Given the description of an element on the screen output the (x, y) to click on. 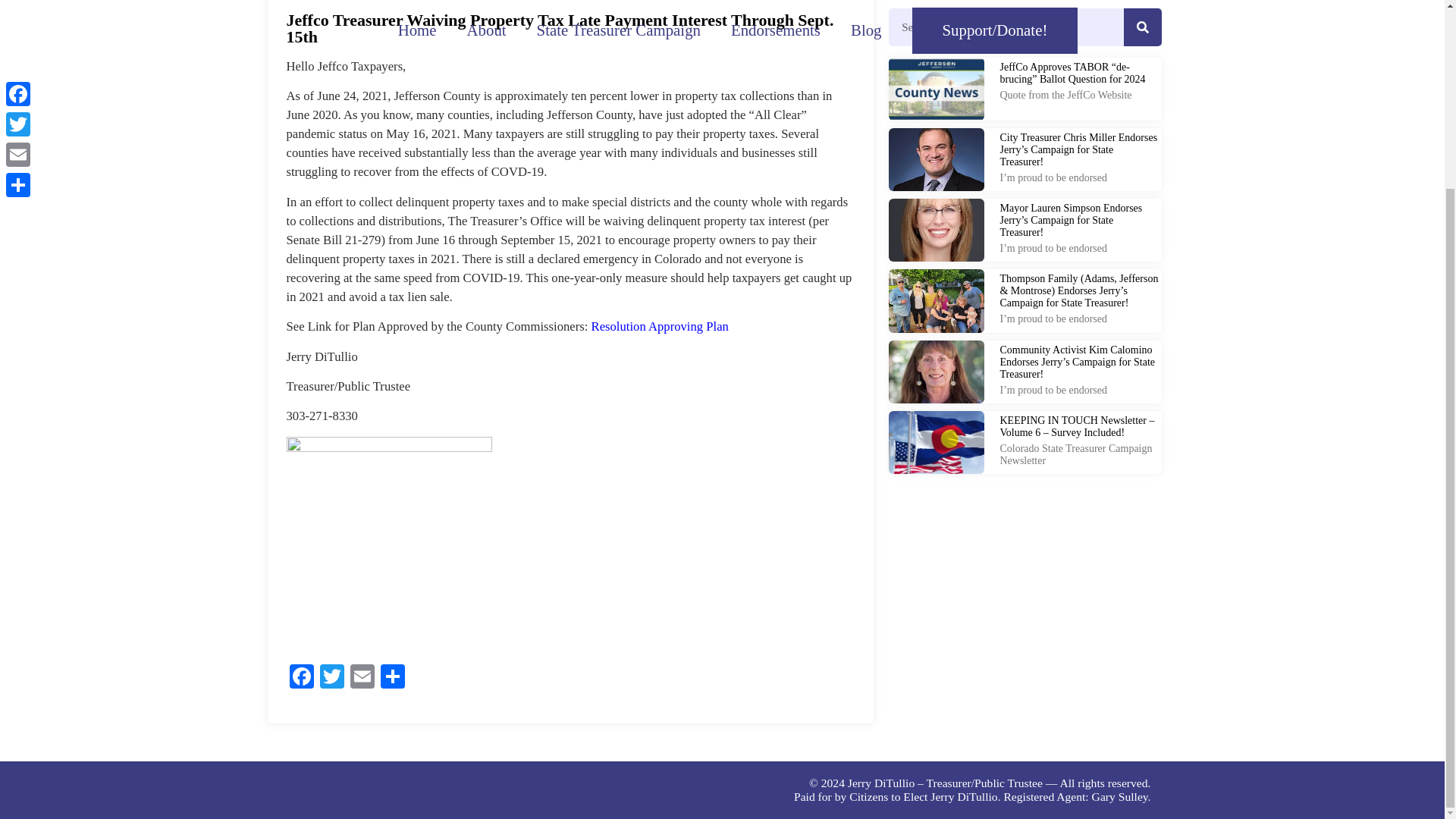
Email (362, 678)
Facebook (301, 678)
Facebook (301, 678)
Twitter (332, 678)
Twitter (332, 678)
Resolution Approving Plan (660, 326)
Email (362, 678)
Share (392, 678)
